Given the description of an element on the screen output the (x, y) to click on. 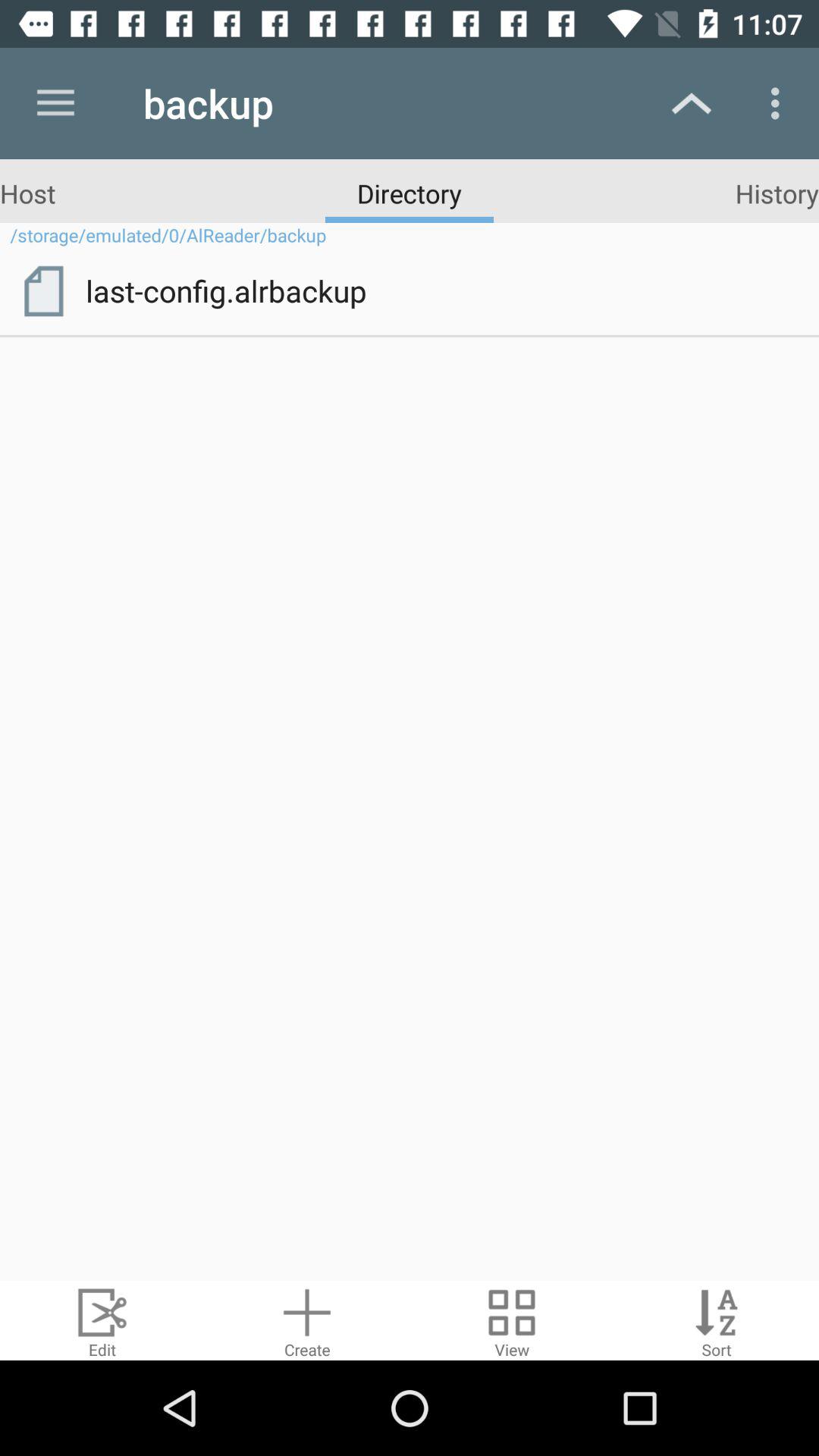
tap icon above host app (55, 103)
